Given the description of an element on the screen output the (x, y) to click on. 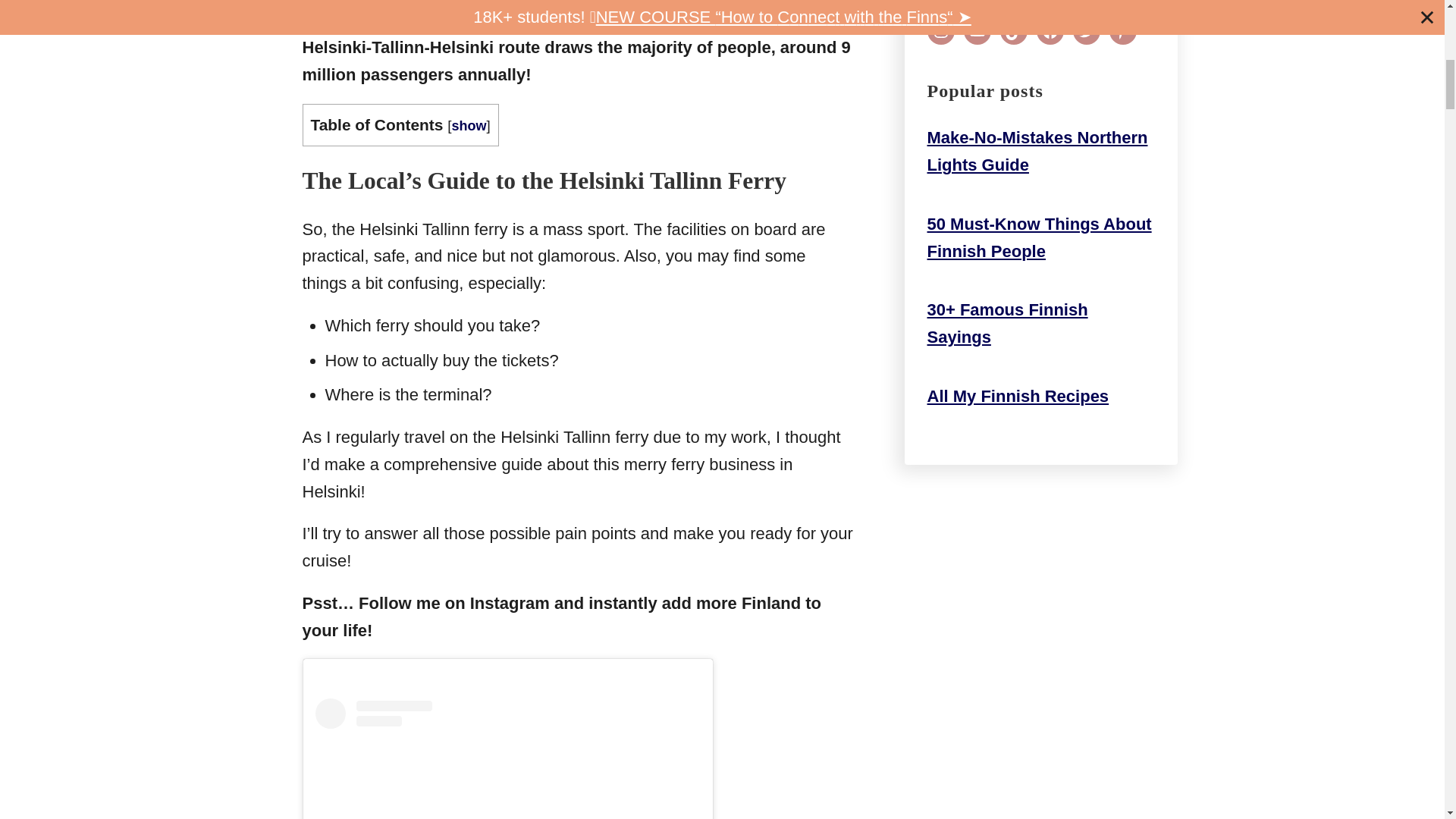
show (468, 125)
